Given the description of an element on the screen output the (x, y) to click on. 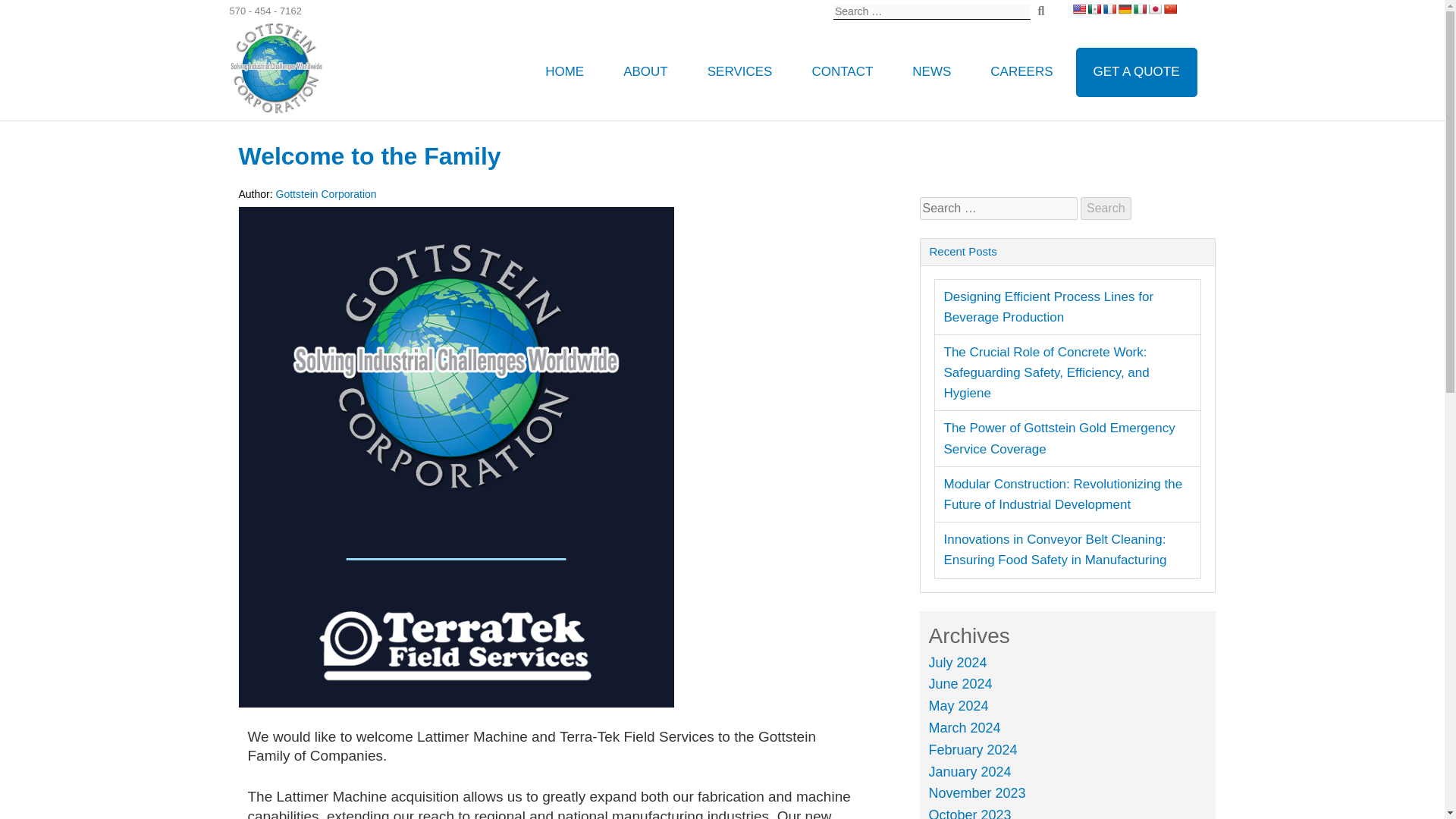
German (1124, 9)
570 - 454 - 7162 (264, 10)
French (1109, 9)
English (1078, 9)
Search (1105, 208)
Search (1105, 208)
Spanish (1093, 9)
Japanese (1154, 9)
SERVICES (739, 71)
Italian (1139, 9)
